Given the description of an element on the screen output the (x, y) to click on. 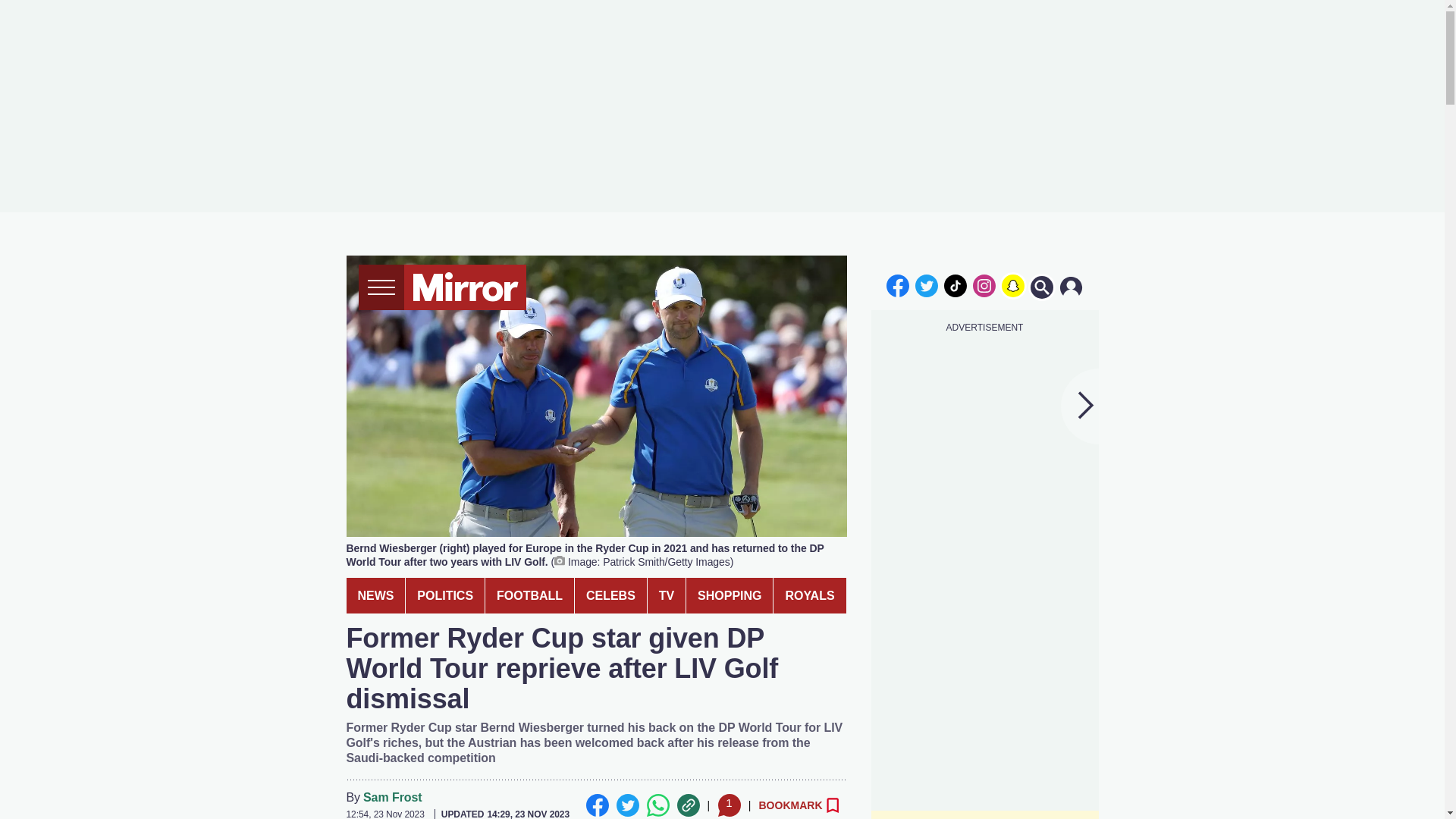
twitter (926, 285)
tiktok (955, 285)
facebook (897, 285)
snapchat (1012, 285)
instagram (984, 285)
Facebook (596, 804)
Twitter (627, 804)
